Given the description of an element on the screen output the (x, y) to click on. 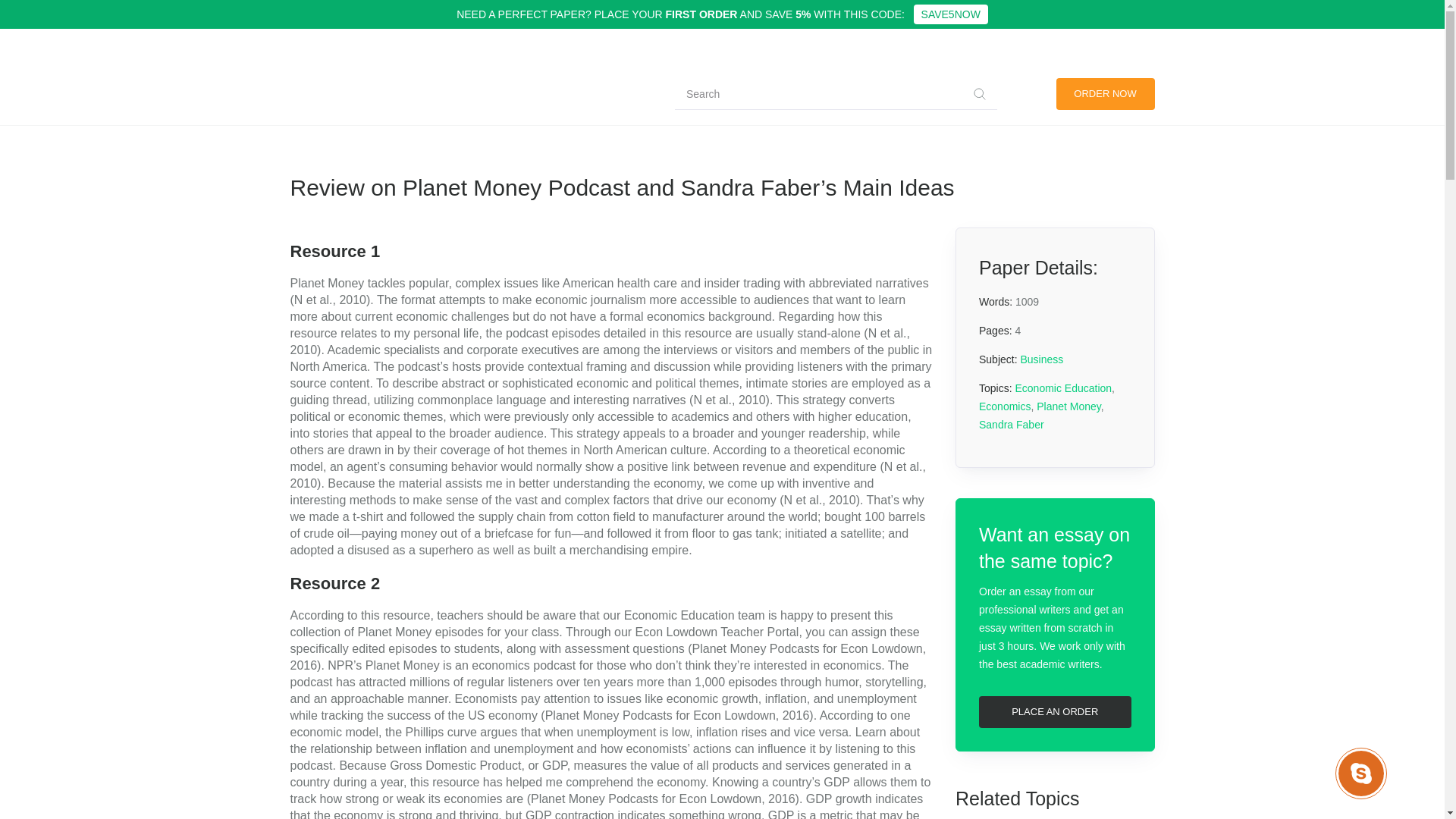
Economic Education (1063, 387)
Planet Money (1068, 406)
SAVE5NOW (951, 14)
Sandra Faber (1010, 424)
Home (305, 101)
Business (1041, 358)
PLACE AN ORDER (1054, 712)
Business (357, 101)
Economics (1004, 406)
ORDER NOW (1104, 93)
